Given the description of an element on the screen output the (x, y) to click on. 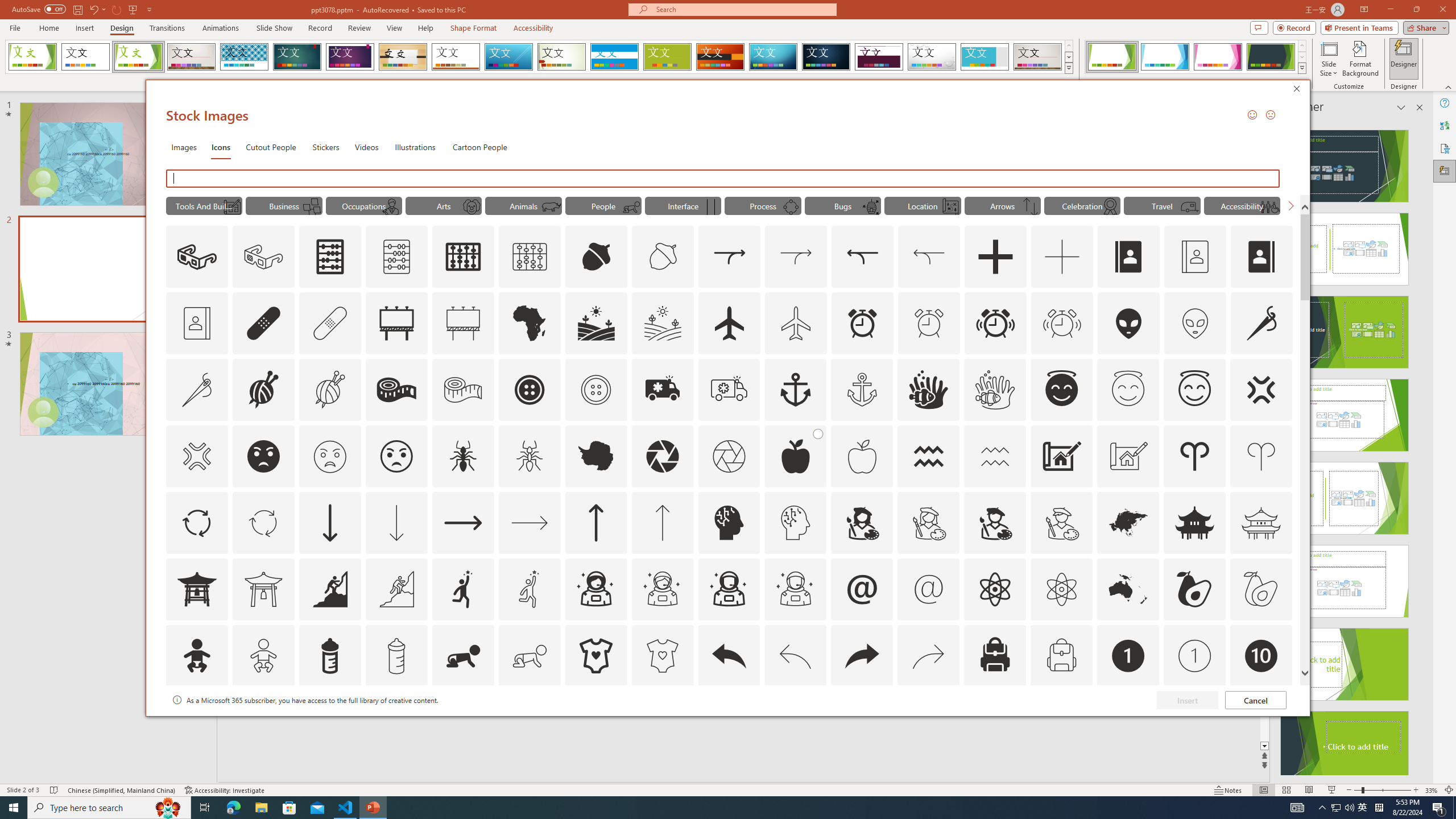
AutomationID: Icons_Blueprint_M (231, 206)
Illustrations (415, 146)
Berlin (720, 56)
AutomationID: Icons_Aperture_M (729, 455)
AutomationID: Icons_ArrowUp_M (662, 522)
AutomationID: Icons_Abacus_M (397, 256)
AutomationID: Icons_Apple_M (861, 455)
